Given the description of an element on the screen output the (x, y) to click on. 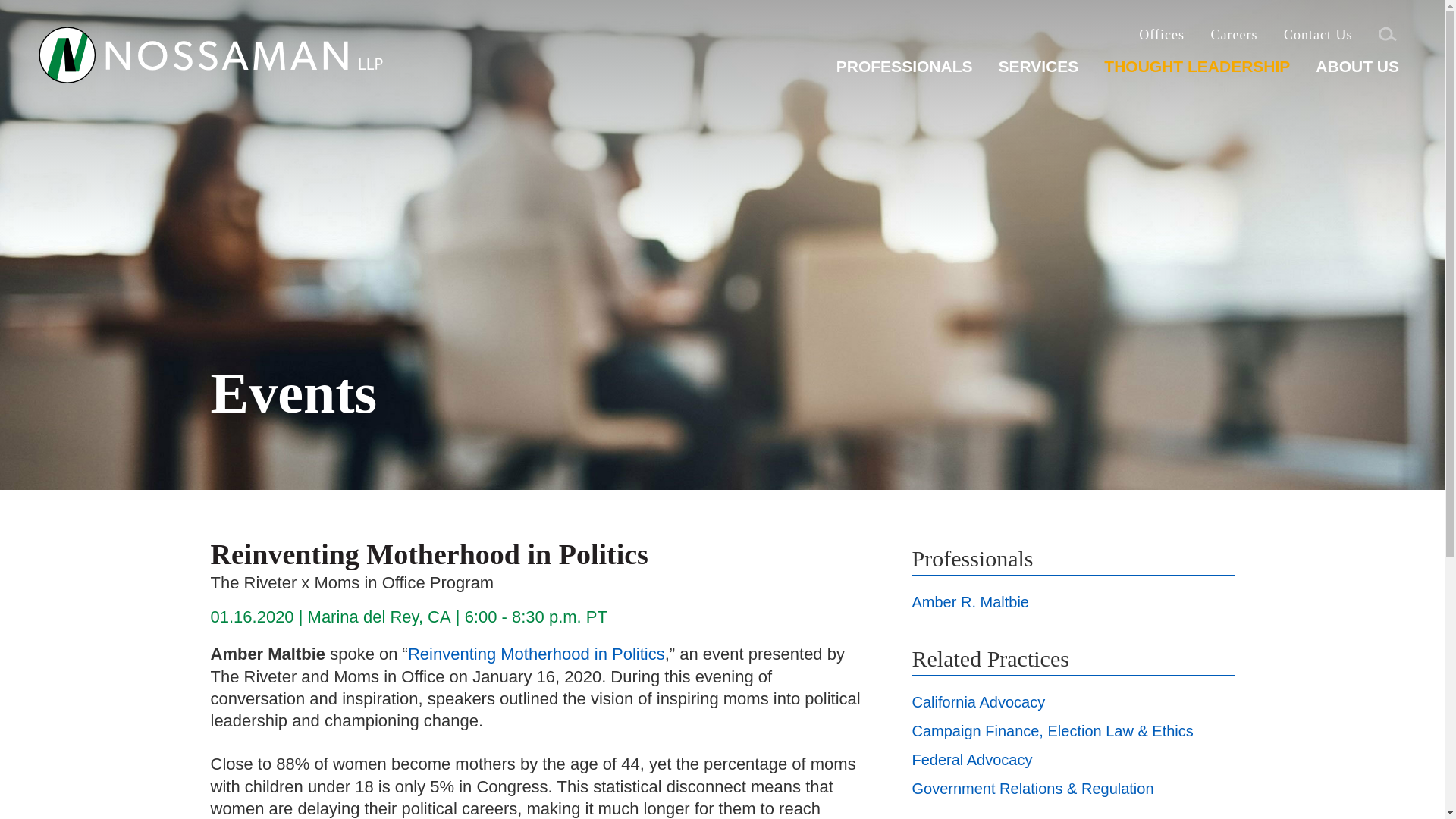
SERVICES (1037, 72)
Reinventing Motherhood in Politics (536, 653)
California Advocacy (978, 701)
Federal Advocacy (971, 759)
Amber R. Maltbie (970, 601)
PROFESSIONALS (904, 72)
